Given the description of an element on the screen output the (x, y) to click on. 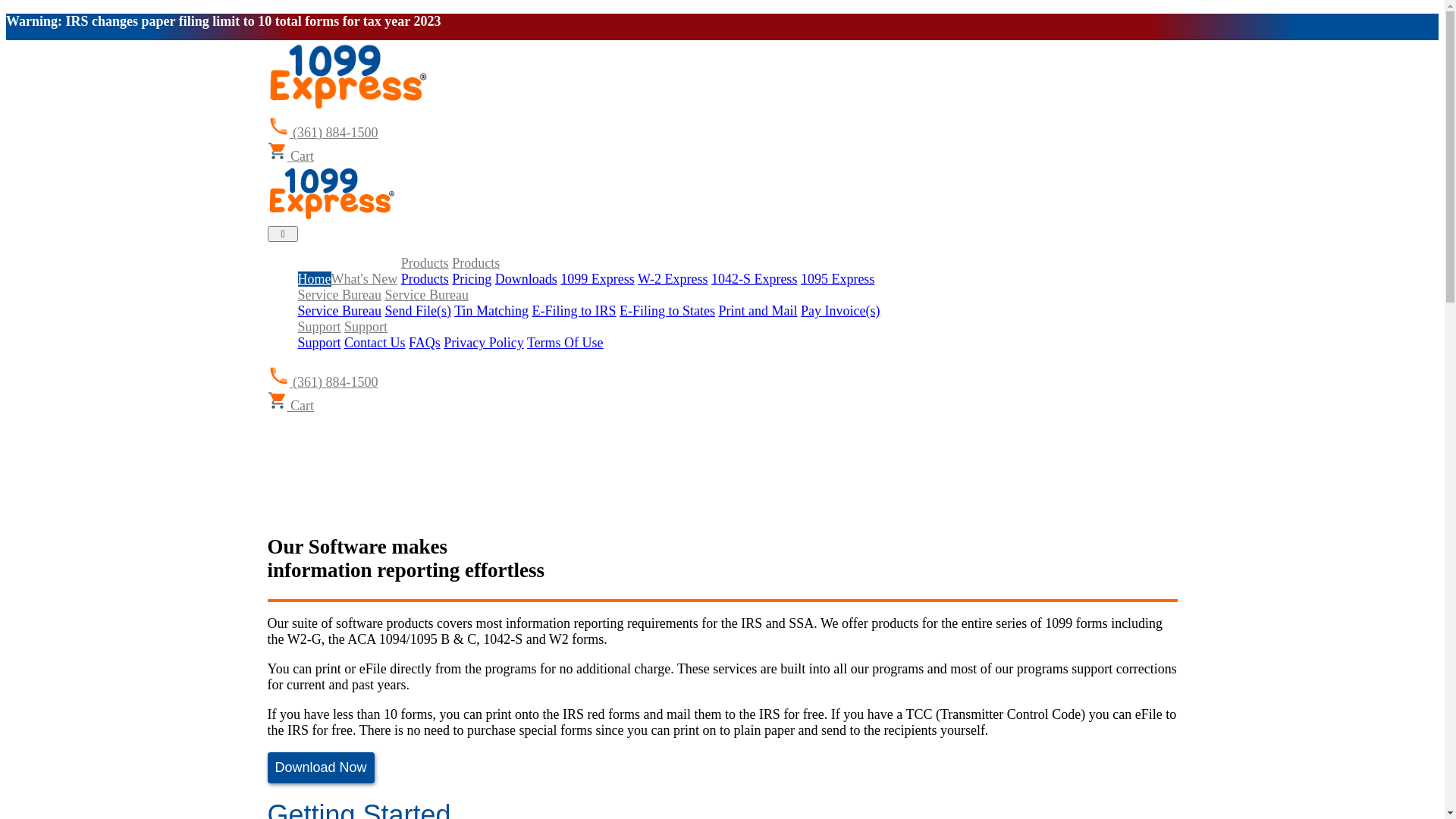
What's New Element type: text (363, 278)
Terms Of Use Element type: text (565, 342)
E-Filing to IRS Element type: text (574, 310)
Service Bureau Element type: text (338, 294)
Contact Us Element type: text (374, 342)
(361) 884-1500 Element type: text (321, 381)
1042-S Express Element type: text (754, 278)
FAQs Element type: text (424, 342)
1095 Express Element type: text (837, 278)
Downloads Element type: text (526, 278)
Support Element type: text (318, 342)
Print and Mail Element type: text (757, 310)
Products Element type: text (424, 278)
W-2 Express Element type: text (672, 278)
Support Element type: text (365, 326)
Pricing Element type: text (471, 278)
Tin Matching Element type: text (491, 310)
Privacy Policy Element type: text (483, 342)
(361) 884-1500 Element type: text (321, 132)
Products Element type: text (424, 262)
E-Filing to States Element type: text (667, 310)
1099 Express Element type: text (597, 278)
Products Element type: text (475, 262)
Home
(current) Element type: text (313, 278)
Support Element type: text (318, 326)
Send File(s) Element type: text (417, 310)
Service Bureau Element type: text (425, 294)
Pay Invoice(s) Element type: text (839, 310)
Cart Element type: text (289, 405)
Download Now Element type: text (319, 767)
Cart Element type: text (289, 155)
Service Bureau Element type: text (338, 310)
